Given the description of an element on the screen output the (x, y) to click on. 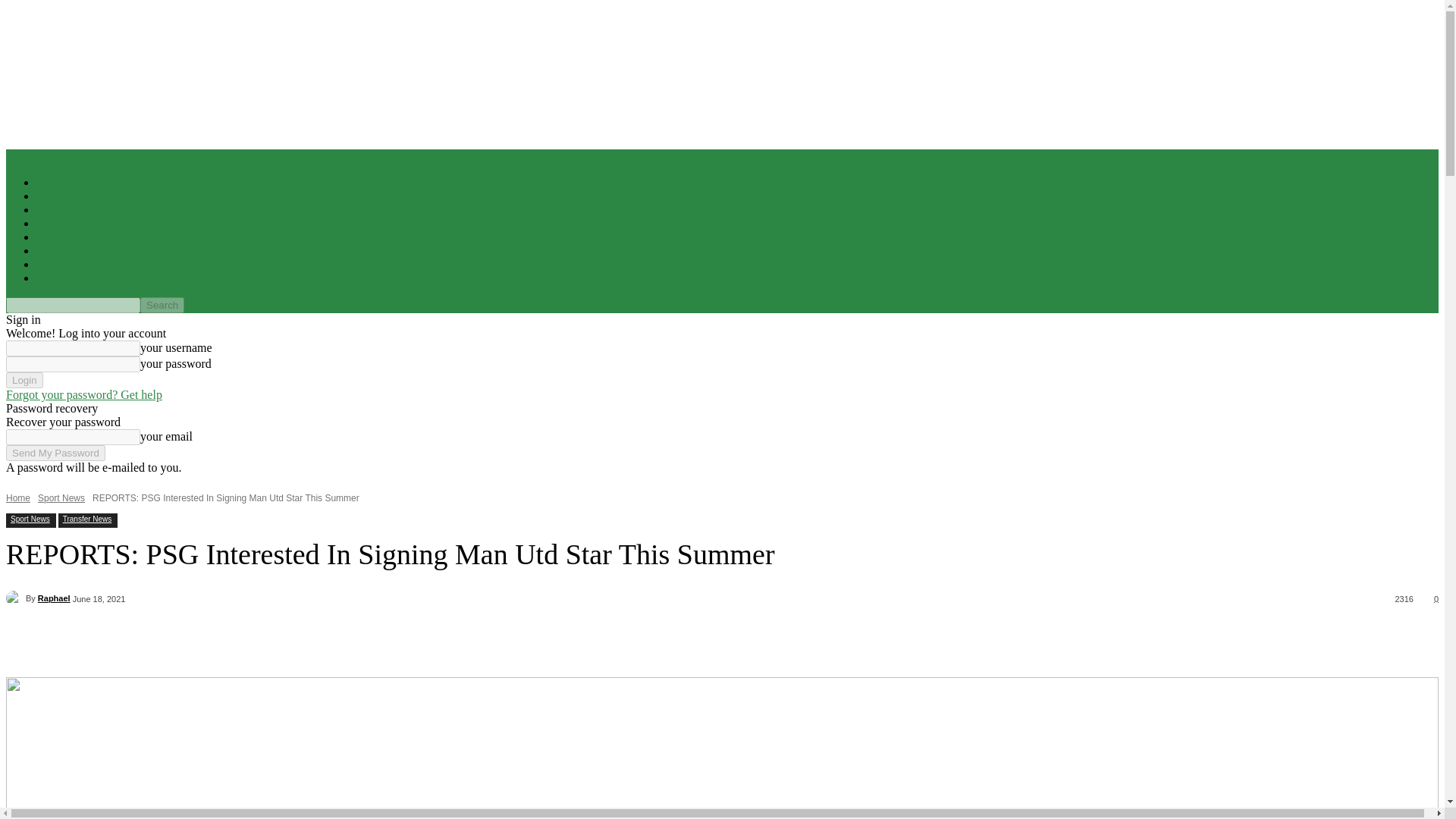
Home (17, 498)
STORES (58, 223)
LIVESCORES (73, 250)
Sport News (60, 498)
Search (161, 304)
Search (161, 304)
HOME (53, 182)
Forgot your password? Get help (83, 394)
LOGIN (55, 209)
Login (24, 380)
PROMOTIONS (75, 264)
Send My Password (54, 453)
FAQs (50, 277)
BLOG (52, 236)
